Given the description of an element on the screen output the (x, y) to click on. 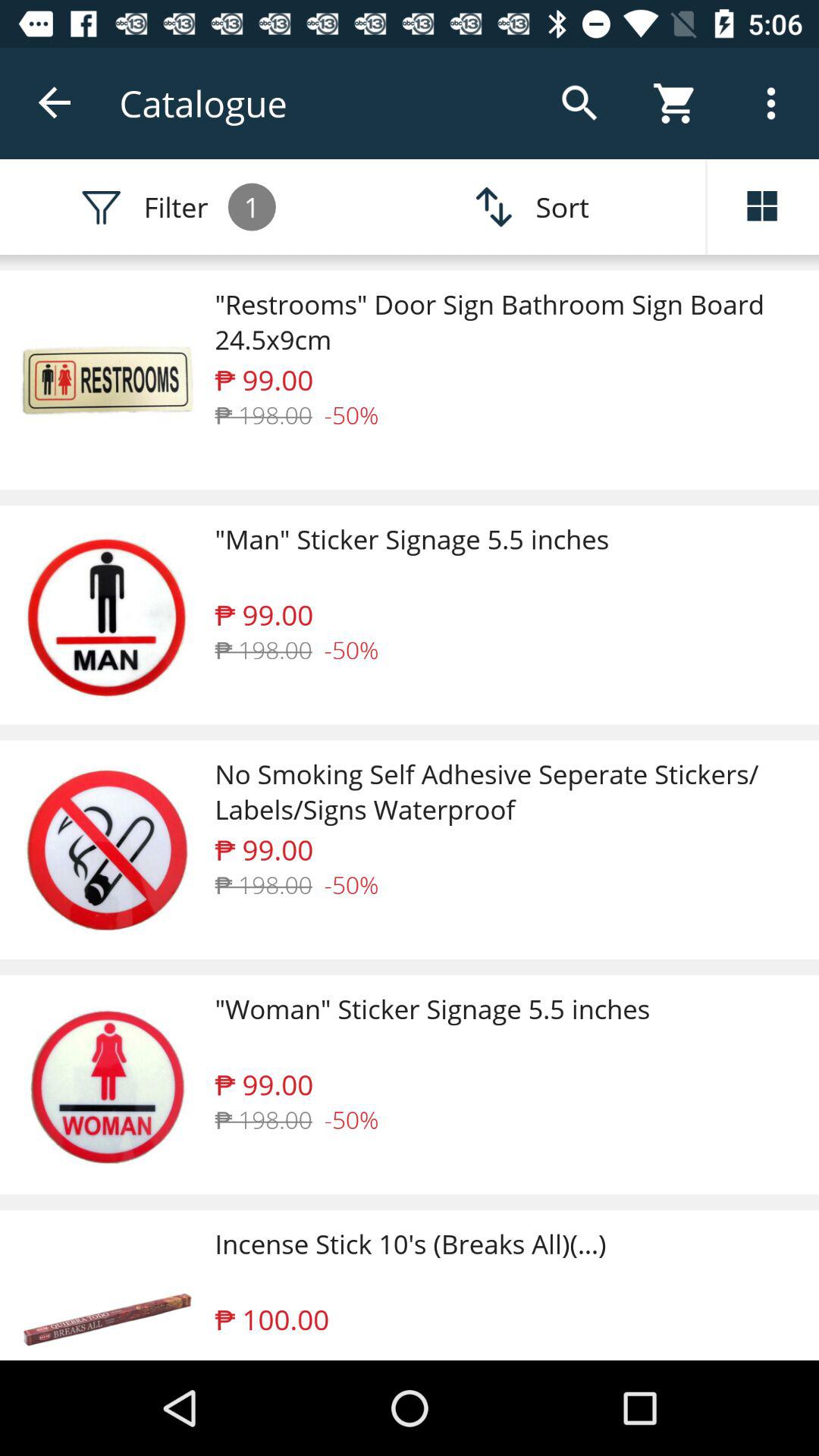
open app to the left of the catalogue icon (55, 103)
